Given the description of an element on the screen output the (x, y) to click on. 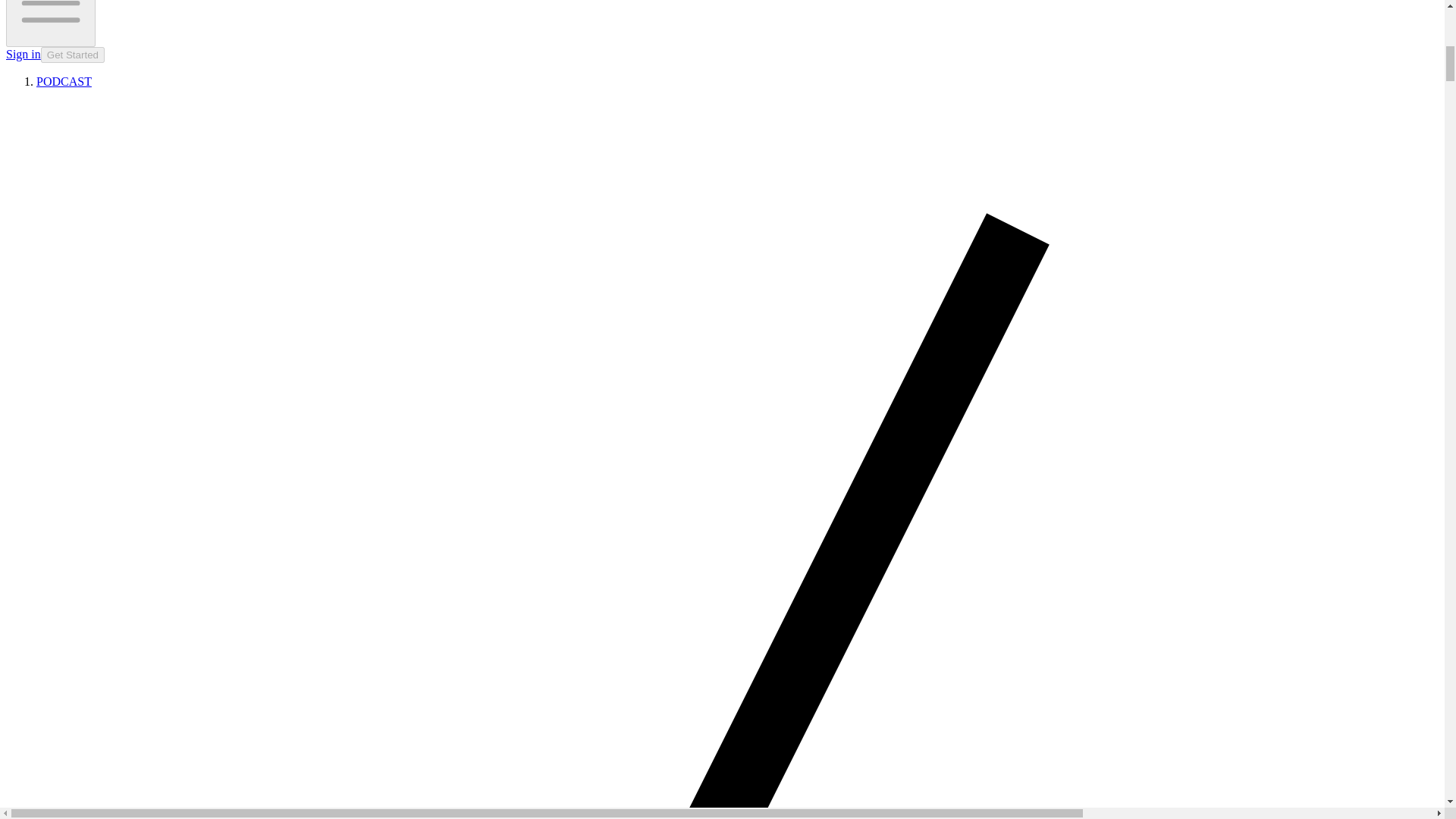
Sign in (22, 53)
Get Started (72, 54)
Open main menu (50, 22)
PODCAST (63, 81)
Get Started (72, 53)
